Given the description of an element on the screen output the (x, y) to click on. 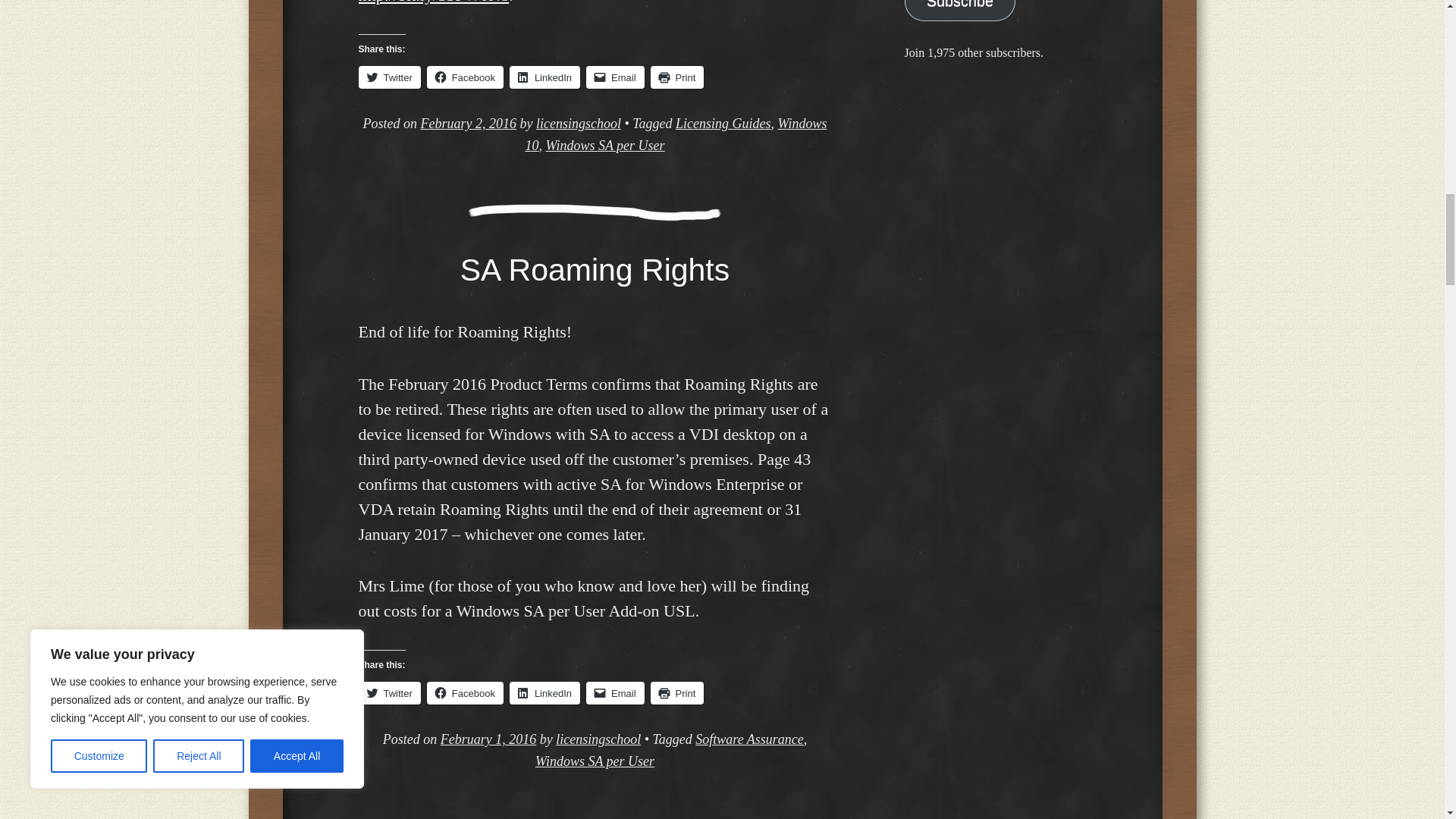
Twitter (389, 77)
Click to share on Twitter (389, 77)
Email (615, 77)
Click to share on LinkedIn (544, 77)
Facebook (464, 77)
Click to share on Facebook (464, 77)
LinkedIn (544, 77)
